Given the description of an element on the screen output the (x, y) to click on. 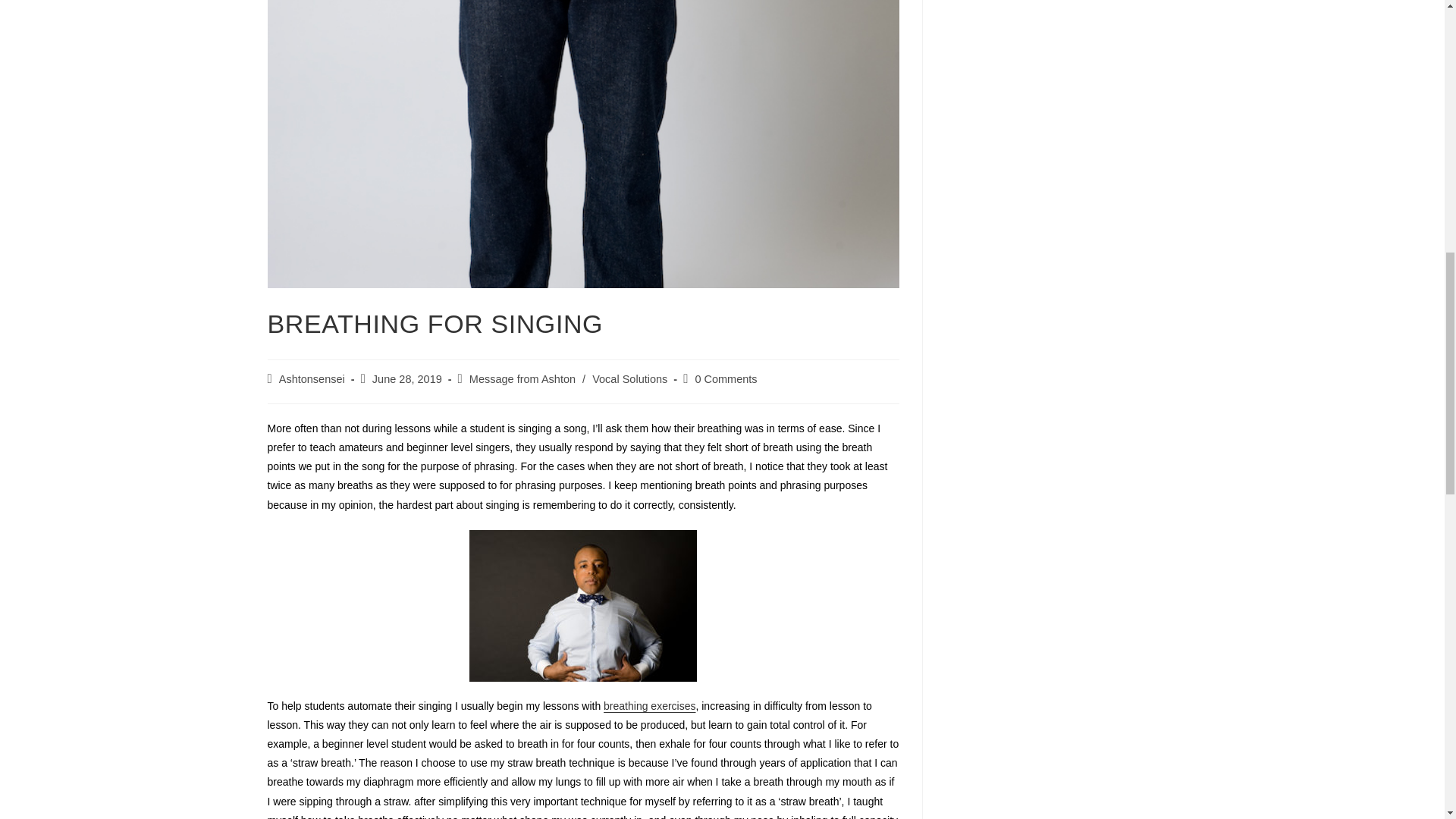
0 Comments (725, 378)
Message from Ashton (521, 378)
Posts by Ashtonsensei (312, 378)
Ashtonsensei (312, 378)
breathing exercises (649, 705)
Vocal Solutions (629, 378)
